Given the description of an element on the screen output the (x, y) to click on. 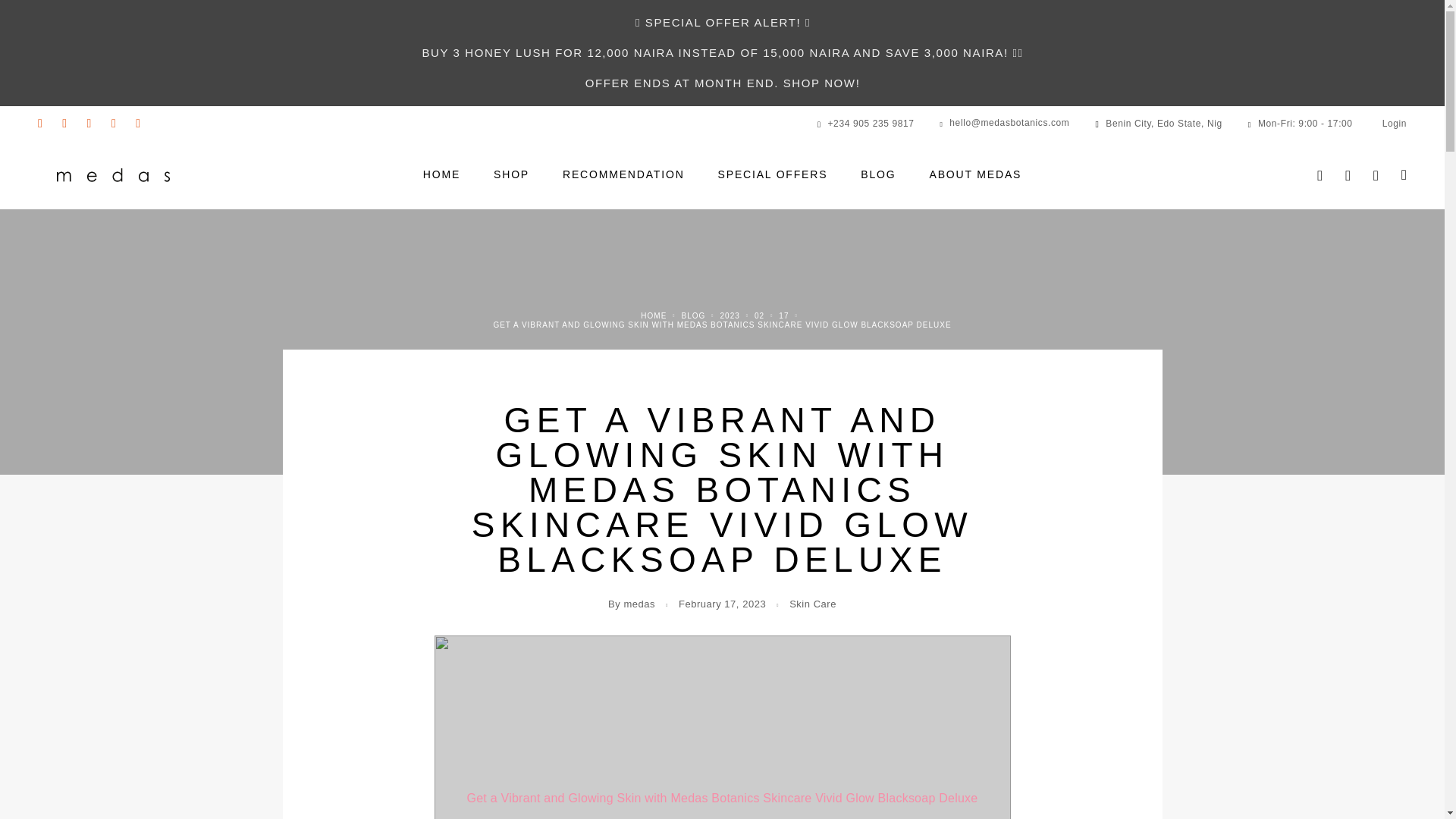
02 (759, 316)
2023 (729, 316)
Blog (693, 316)
Home (653, 316)
Login (1347, 174)
17 (783, 316)
View all posts in Skin Care (812, 603)
